Given the description of an element on the screen output the (x, y) to click on. 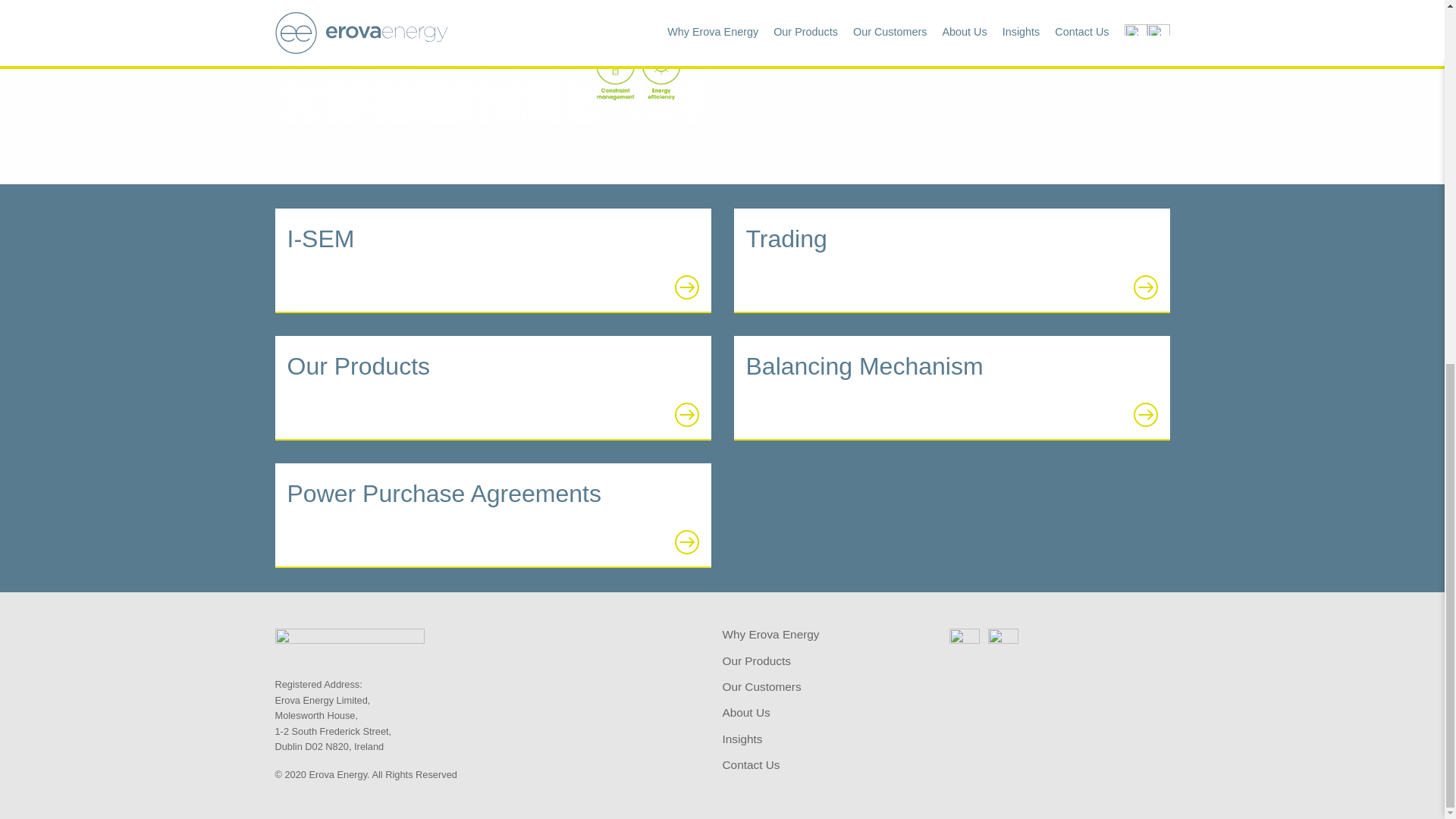
Our Products (492, 387)
Our Products (756, 662)
Insights (741, 739)
About Us (746, 713)
Our Customers (761, 687)
I-SEM (492, 260)
Trading (951, 260)
Contact Us (750, 766)
Why Erova Energy (770, 635)
Balancing Mechanism (951, 387)
Power Purchase Agreements (492, 515)
